Given the description of an element on the screen output the (x, y) to click on. 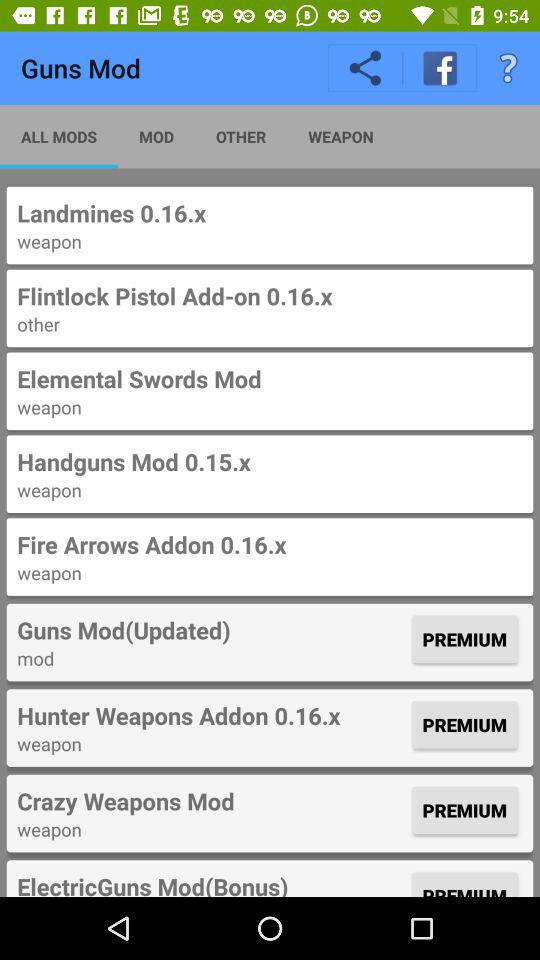
turn off icon next to premium item (211, 715)
